Given the description of an element on the screen output the (x, y) to click on. 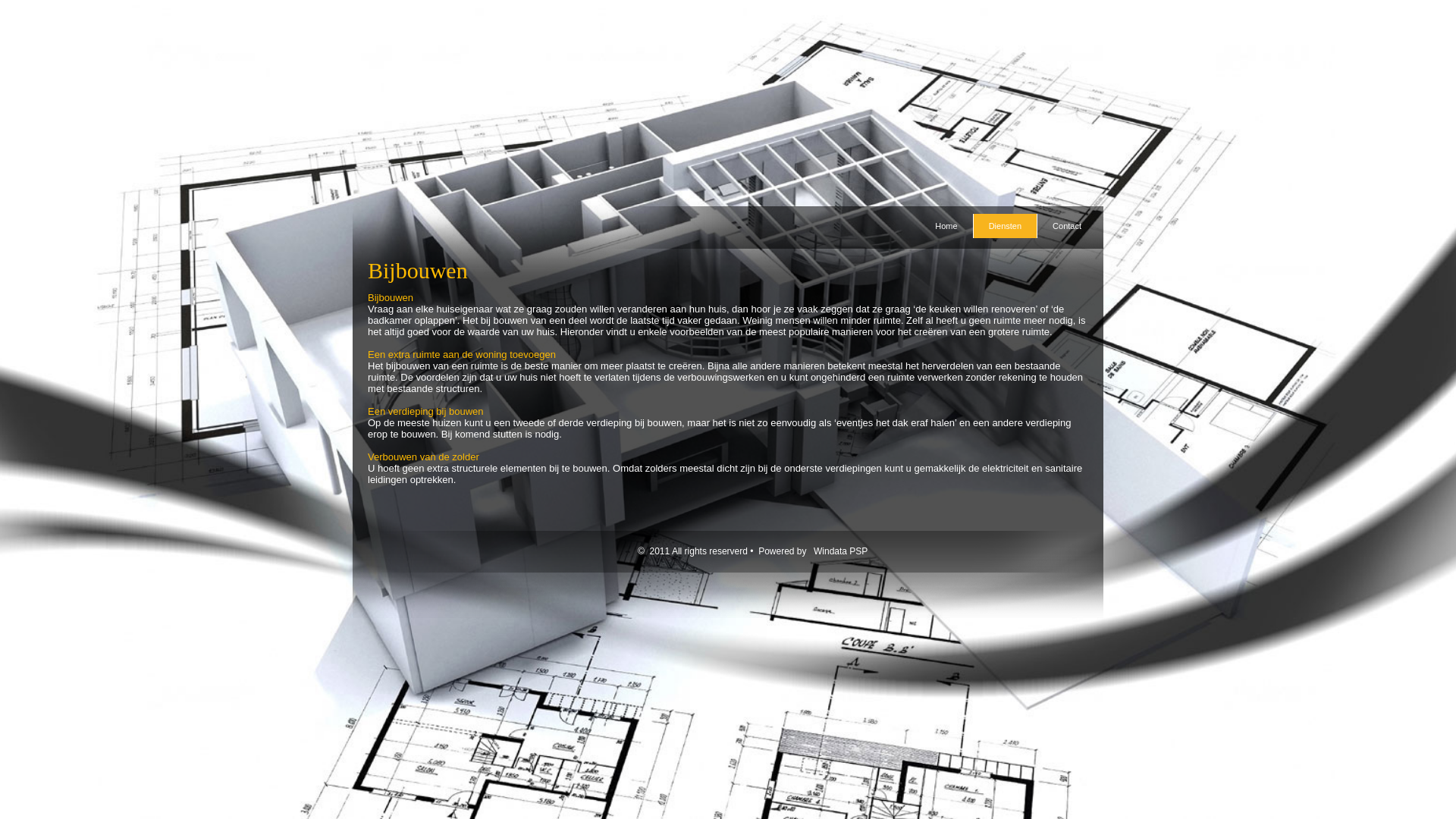
Contact Element type: text (1066, 225)
Diensten Element type: text (1004, 225)
Home Element type: text (945, 225)
